Given the description of an element on the screen output the (x, y) to click on. 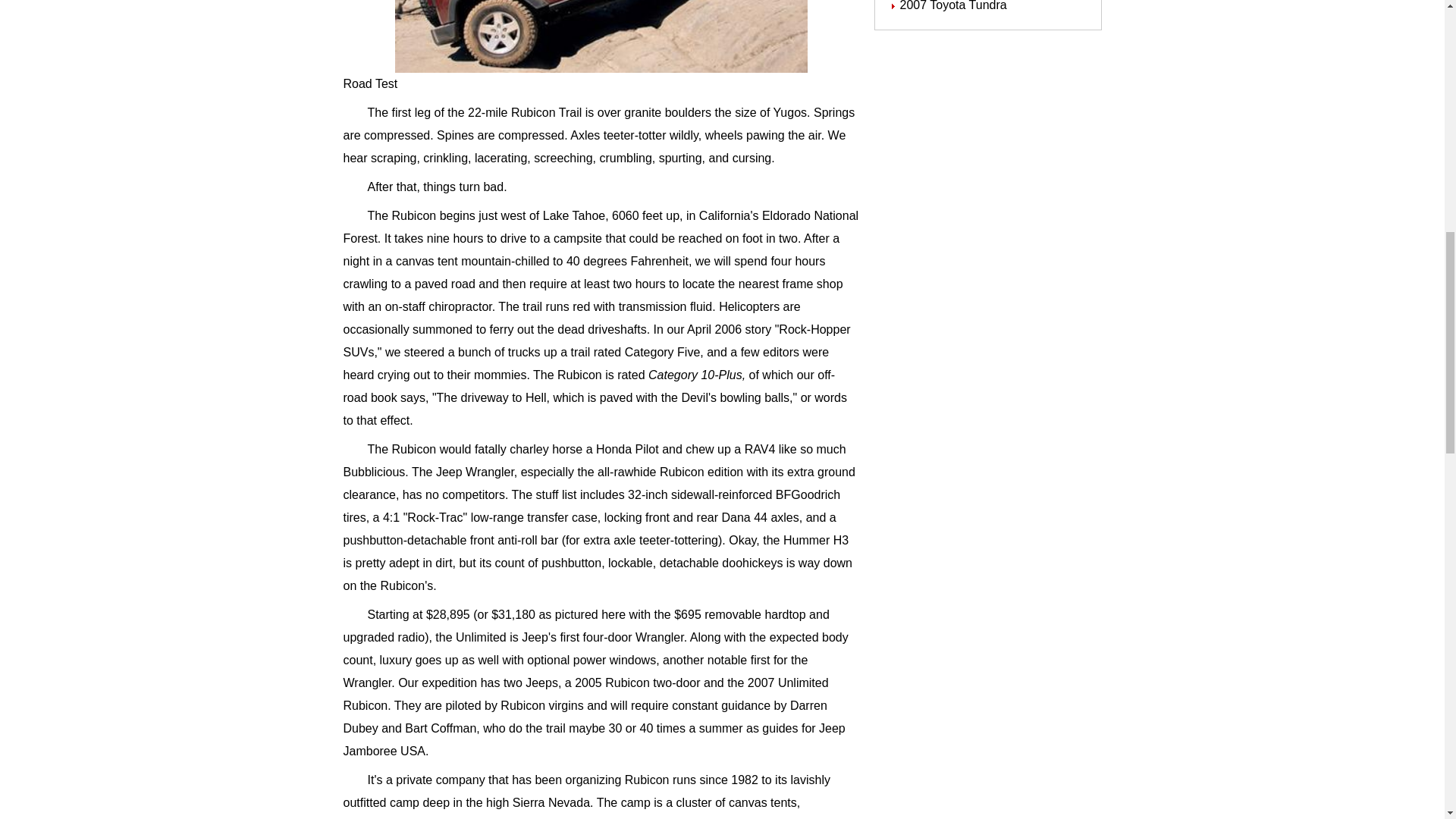
2007 Toyota Tundra (952, 5)
